Given the description of an element on the screen output the (x, y) to click on. 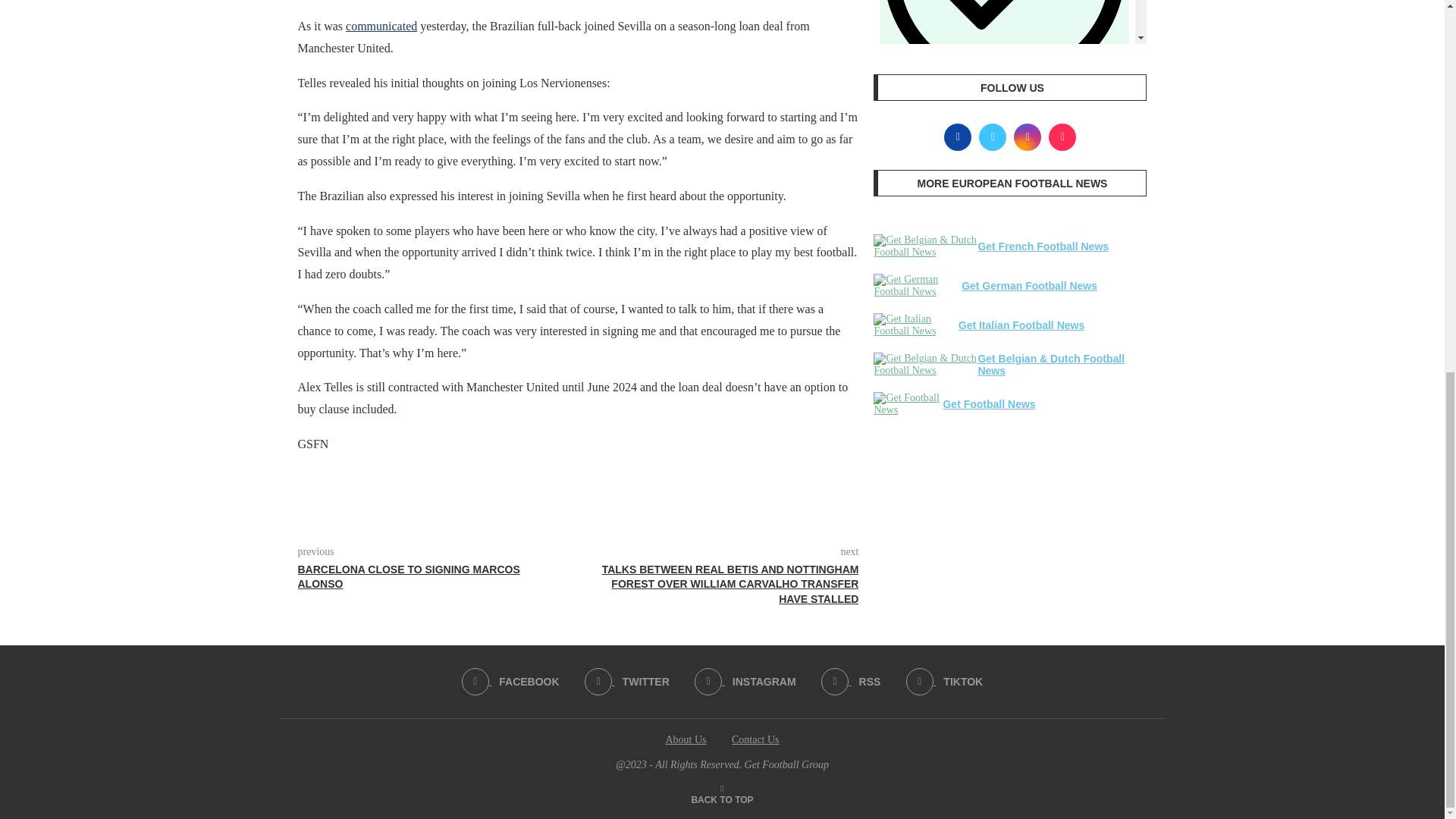
Get Football News (907, 404)
Get French Football News (924, 246)
Get Italian Football News (915, 324)
Get German Football News (916, 285)
